Given the description of an element on the screen output the (x, y) to click on. 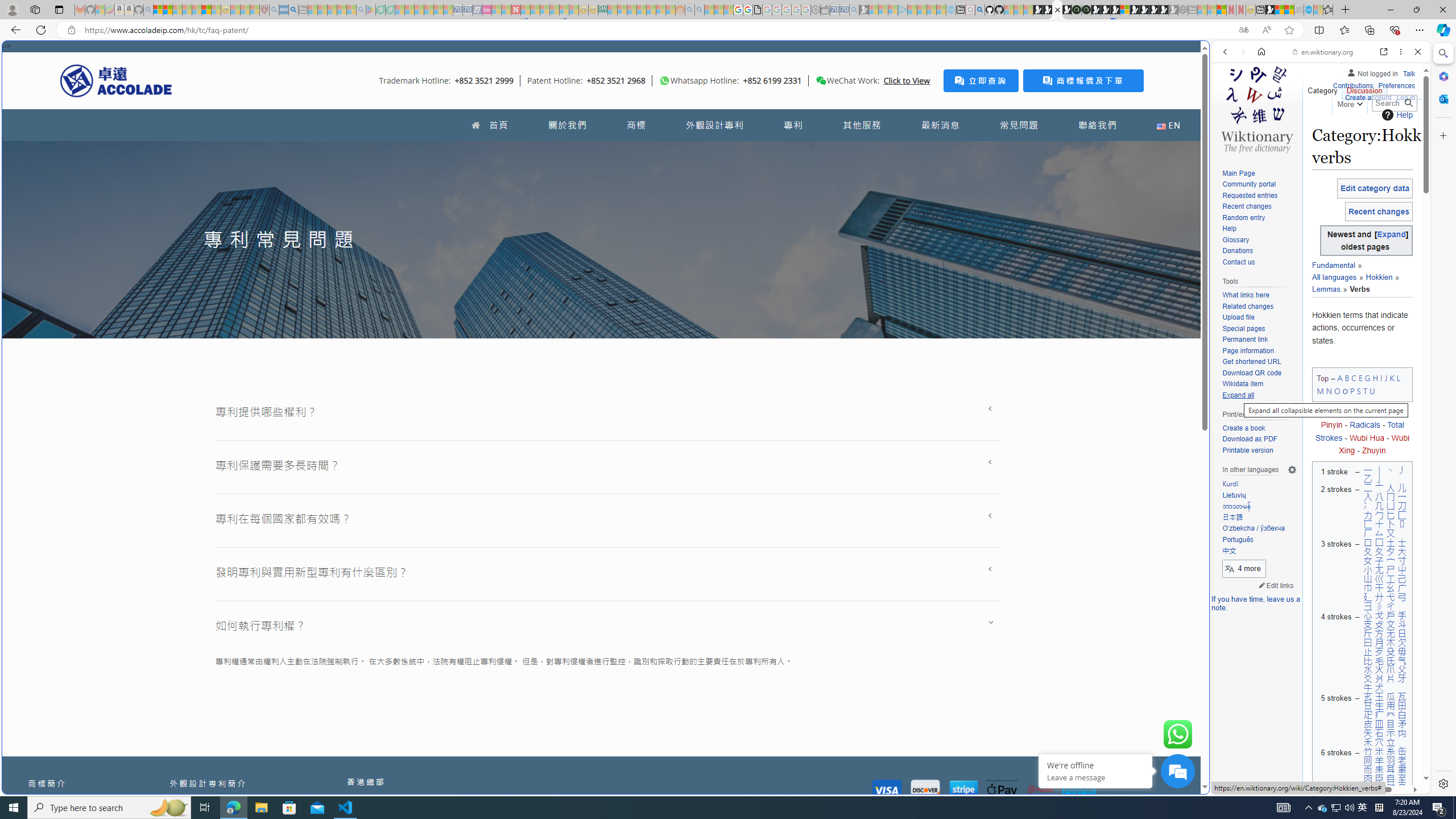
A (1339, 378)
Wiktionary (1315, 380)
utah sues federal government - Search (292, 9)
Donations (1237, 250)
Not logged in (1371, 71)
Cangjie (1334, 411)
M (1319, 390)
